Given the description of an element on the screen output the (x, y) to click on. 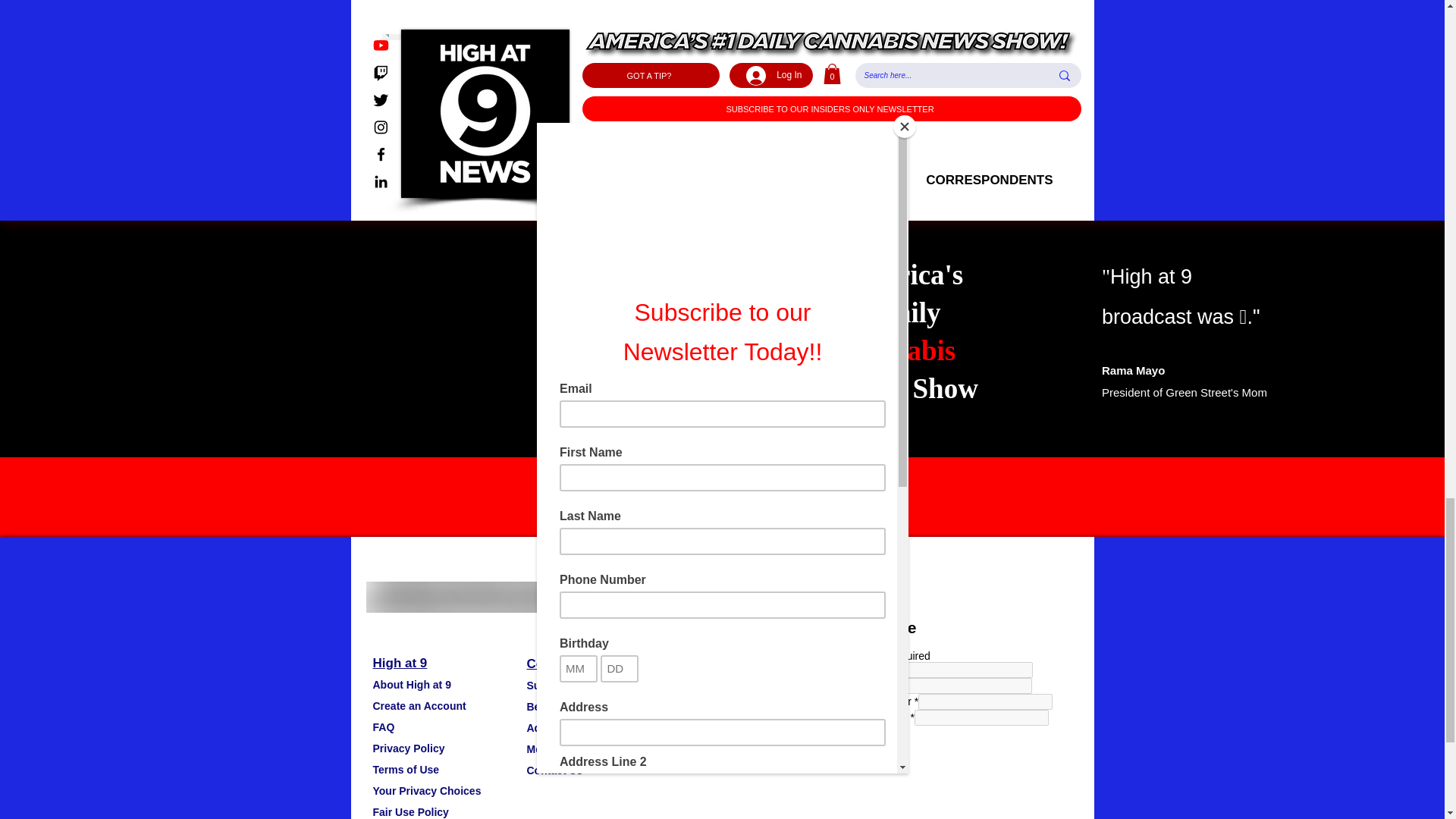
Embedded Content (943, 715)
